Given the description of an element on the screen output the (x, y) to click on. 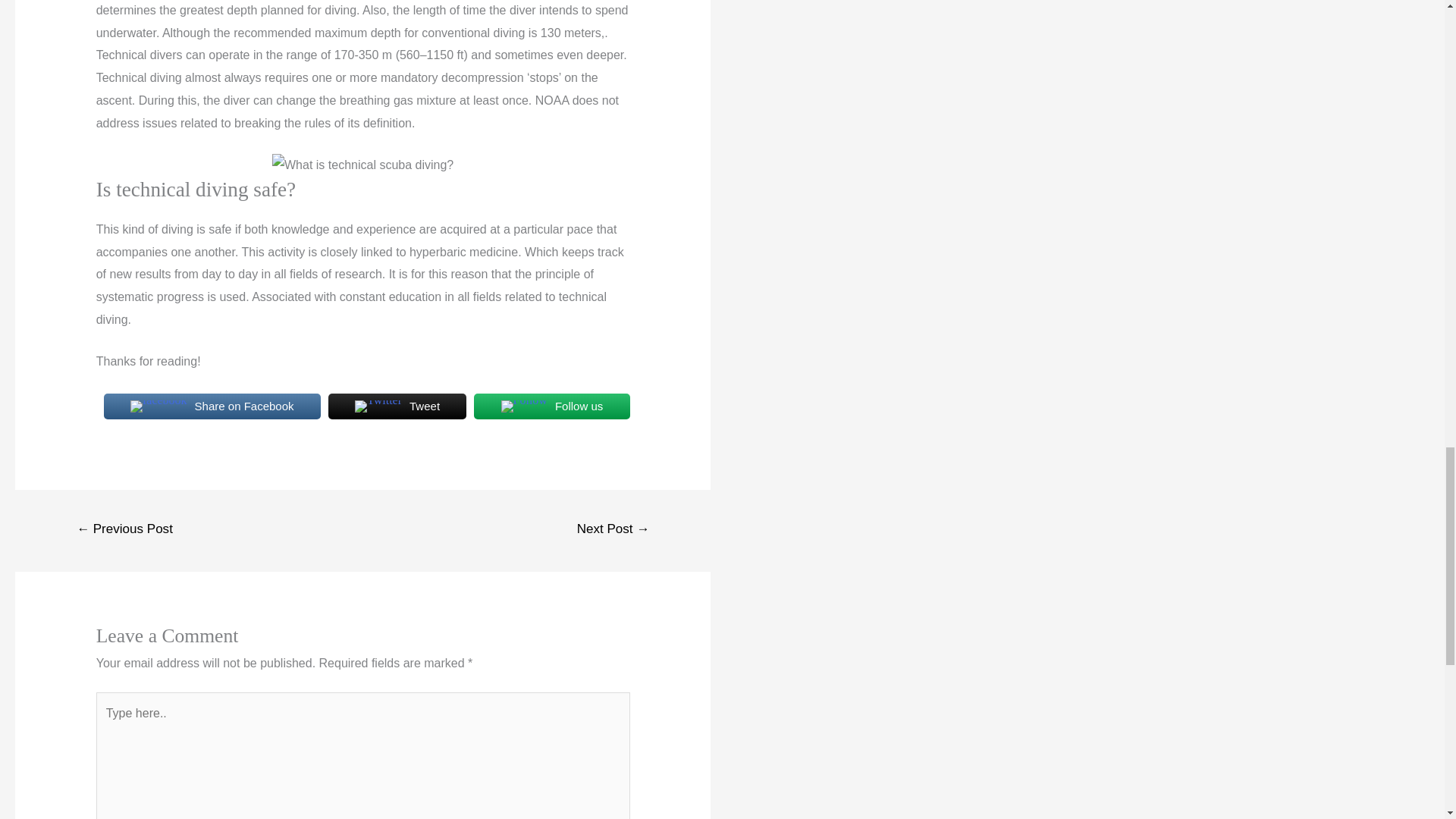
Share on Facebook (211, 406)
Tweet (398, 406)
Follow us (551, 406)
